Given the description of an element on the screen output the (x, y) to click on. 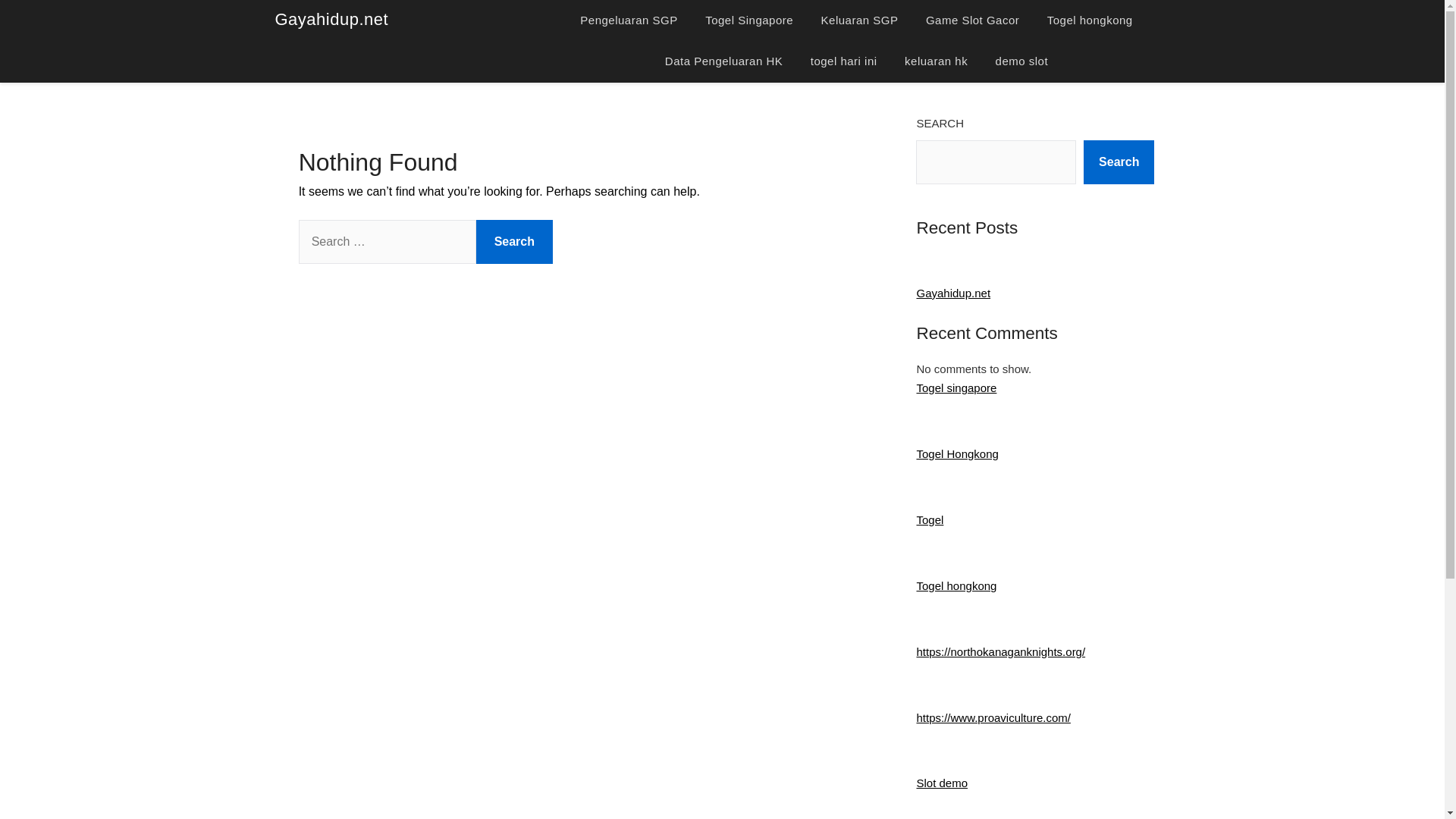
Search (1118, 162)
togel hari ini (843, 60)
Togel hongkong (1089, 20)
Togel Singapore (749, 20)
Search (514, 241)
Togel hongkong (955, 585)
Search (514, 241)
demo slot (1022, 60)
keluaran hk (935, 60)
Pengeluaran SGP (627, 20)
Data Pengeluaran HK (723, 60)
Togel (929, 519)
Search (514, 241)
Slot demo (941, 782)
Game Slot Gacor (972, 20)
